Given the description of an element on the screen output the (x, y) to click on. 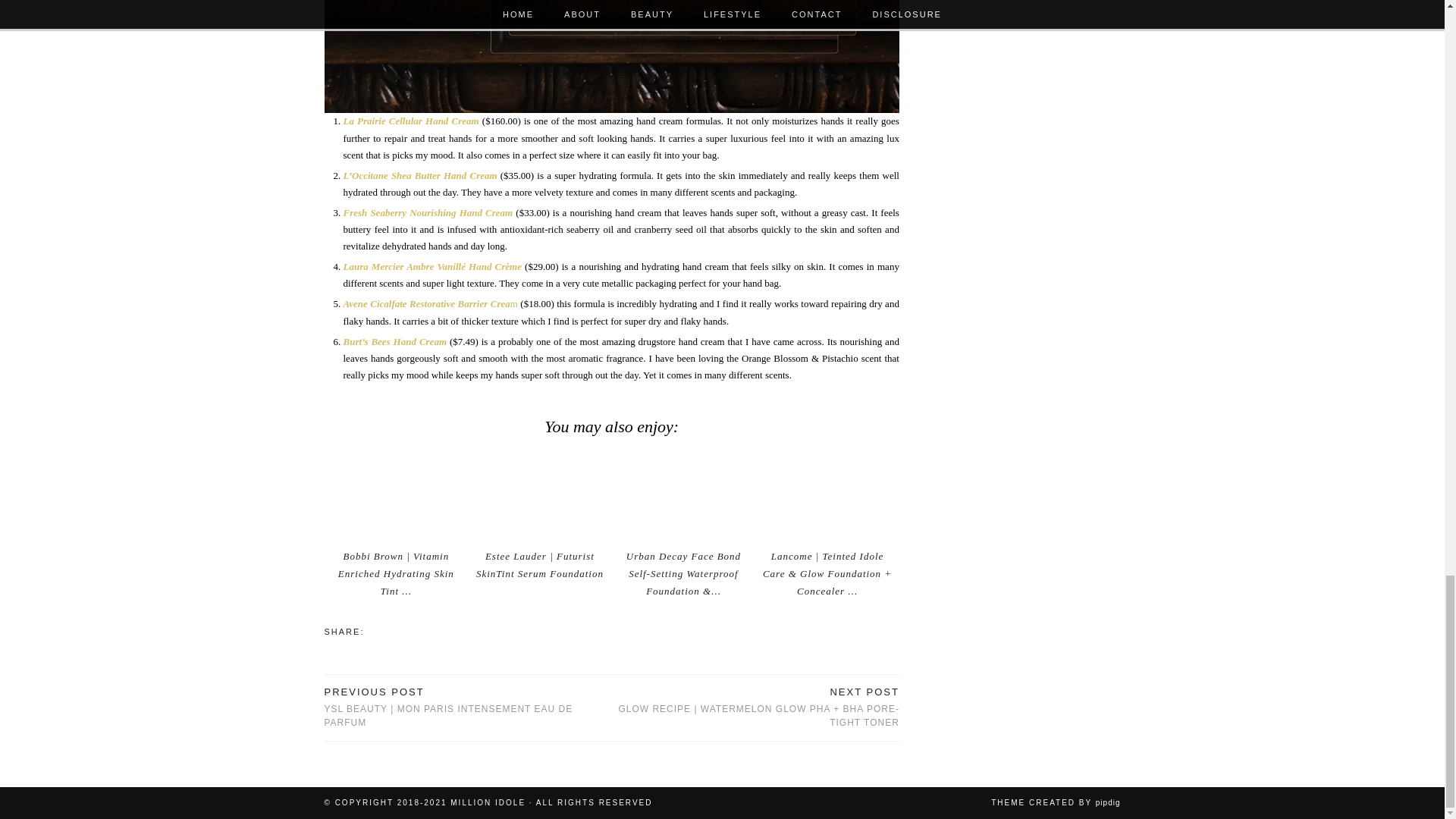
Fresh Seaberry Nourishing Hand Cream (427, 212)
La Prairie Cellular Hand Cream (410, 120)
Avene Cicalfate Restorative Barrier Cream (429, 303)
